Given the description of an element on the screen output the (x, y) to click on. 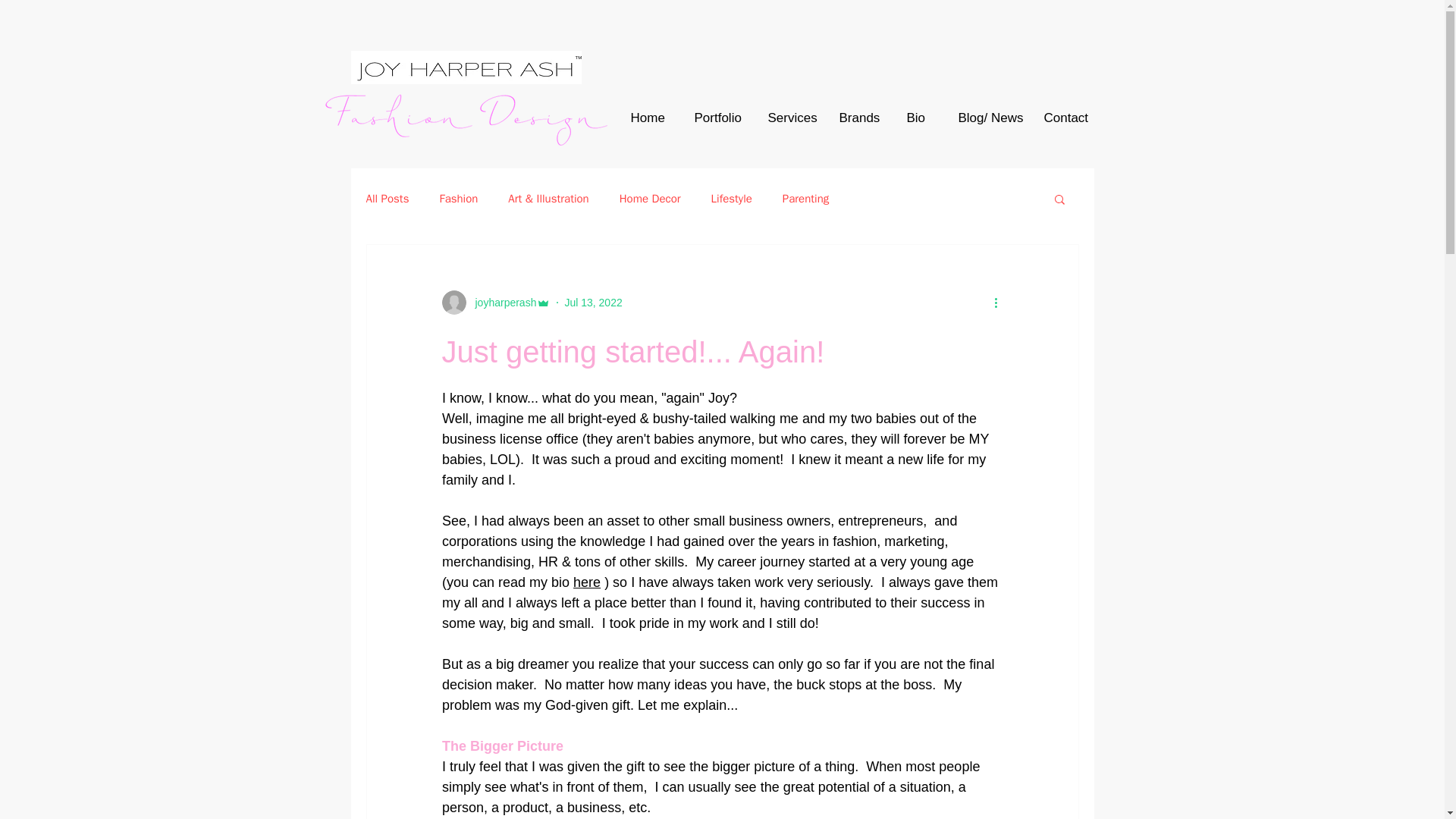
Lifestyle (731, 197)
Fashion (458, 197)
Home (643, 117)
Brands (854, 117)
Bio (912, 117)
Home Decor (650, 197)
joyharperash (500, 302)
joyharperash (495, 302)
All Posts (387, 197)
Parenting (805, 197)
